Given the description of an element on the screen output the (x, y) to click on. 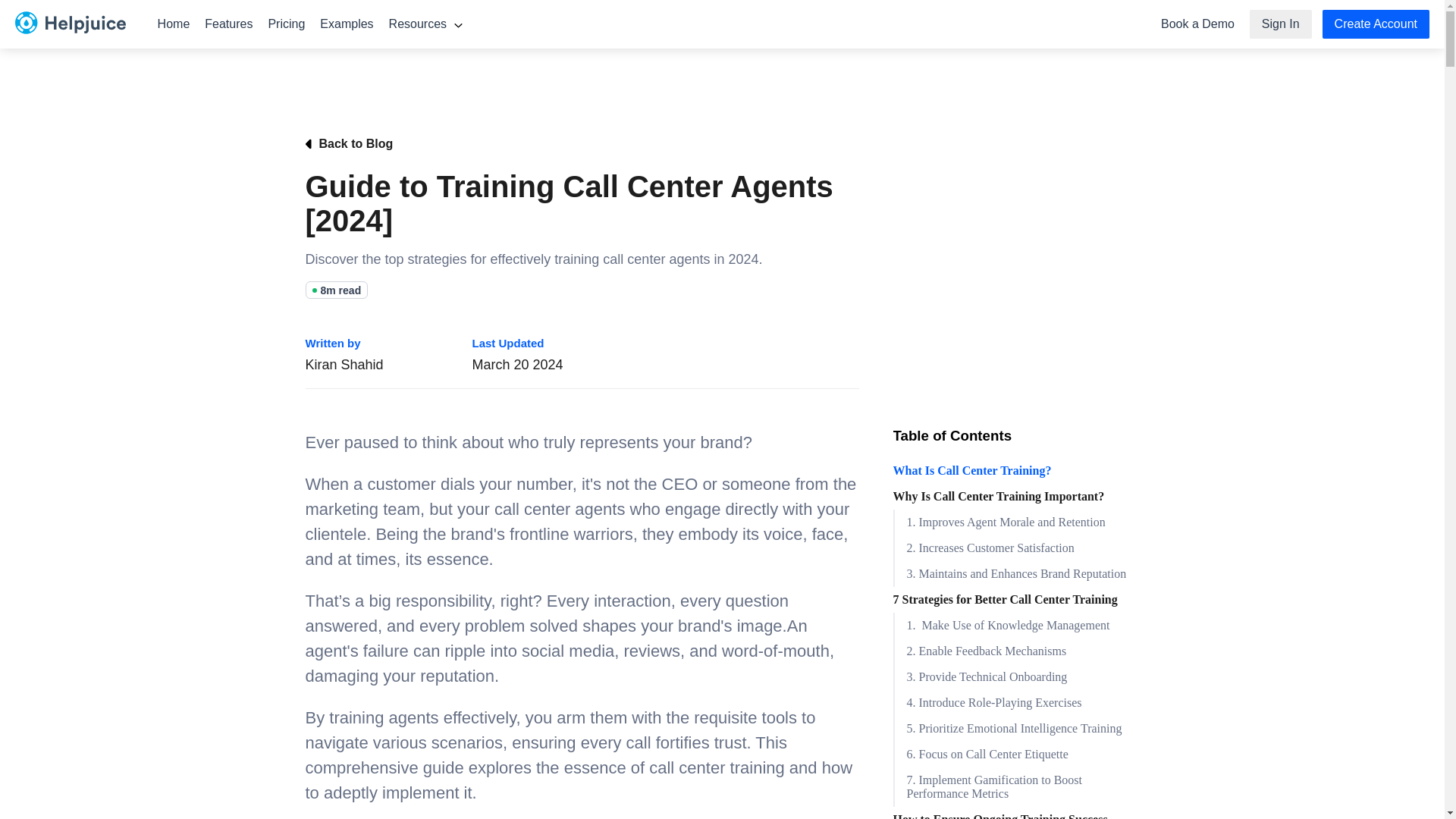
Why Is Call Center Training Important? (1016, 496)
2. Increases Customer Satisfaction (1016, 548)
Sign In (1280, 23)
7 Strategies for Better Call Center Training (1016, 599)
Create Account (1375, 23)
3. Maintains and Enhances Brand Reputation (1016, 574)
Features (228, 23)
2. Enable Feedback Mechanisms (1016, 651)
Pricing (286, 23)
1. Improves Agent Morale and Retention (1016, 522)
